Given the description of an element on the screen output the (x, y) to click on. 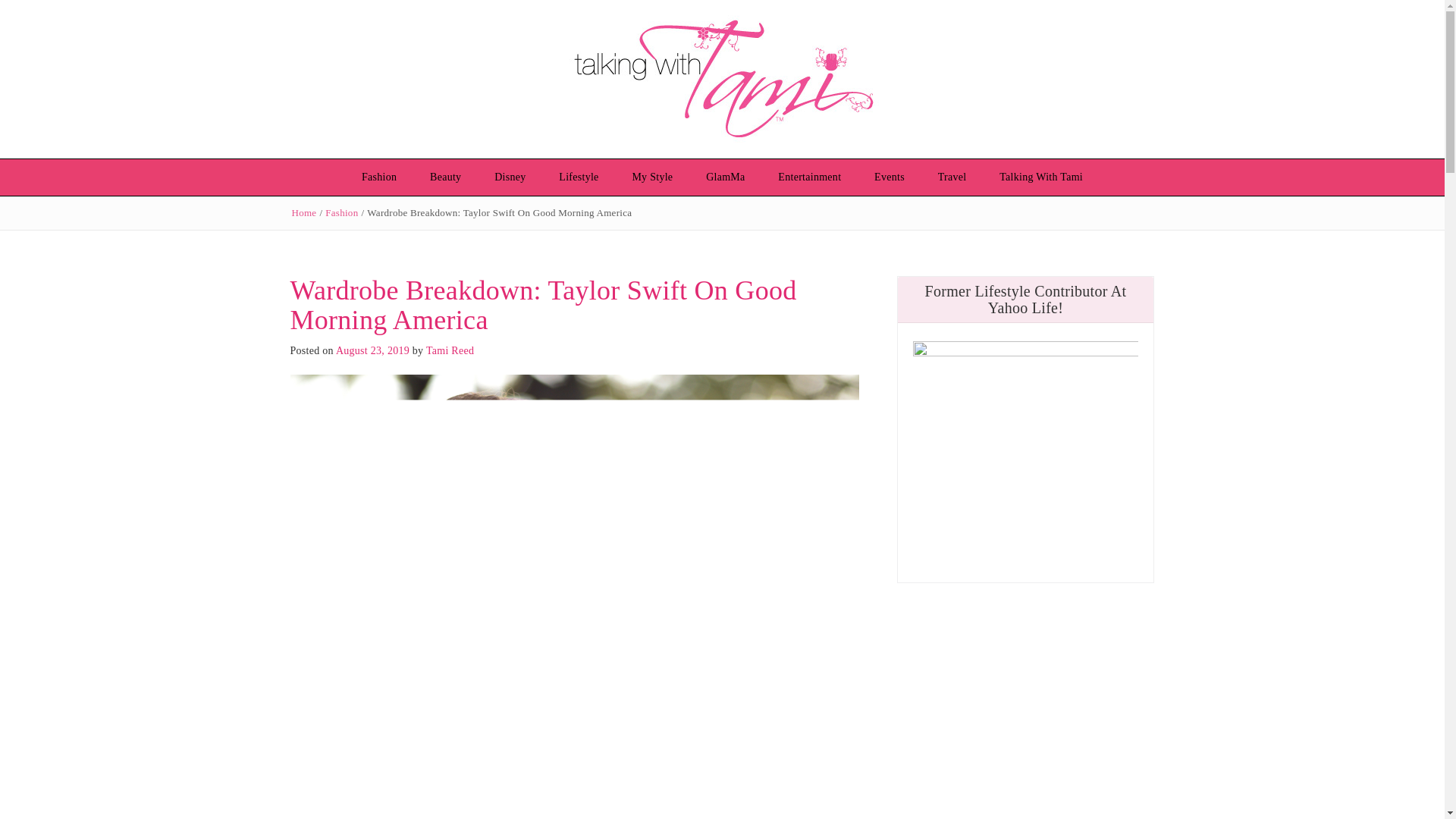
Events (889, 176)
Home (303, 212)
Talking With Tami (1040, 176)
Beauty (445, 176)
Entertainment (809, 176)
My Style (651, 176)
Disney (509, 176)
Tami Reed (450, 350)
August 23, 2019 (372, 350)
Fashion (341, 212)
